Given the description of an element on the screen output the (x, y) to click on. 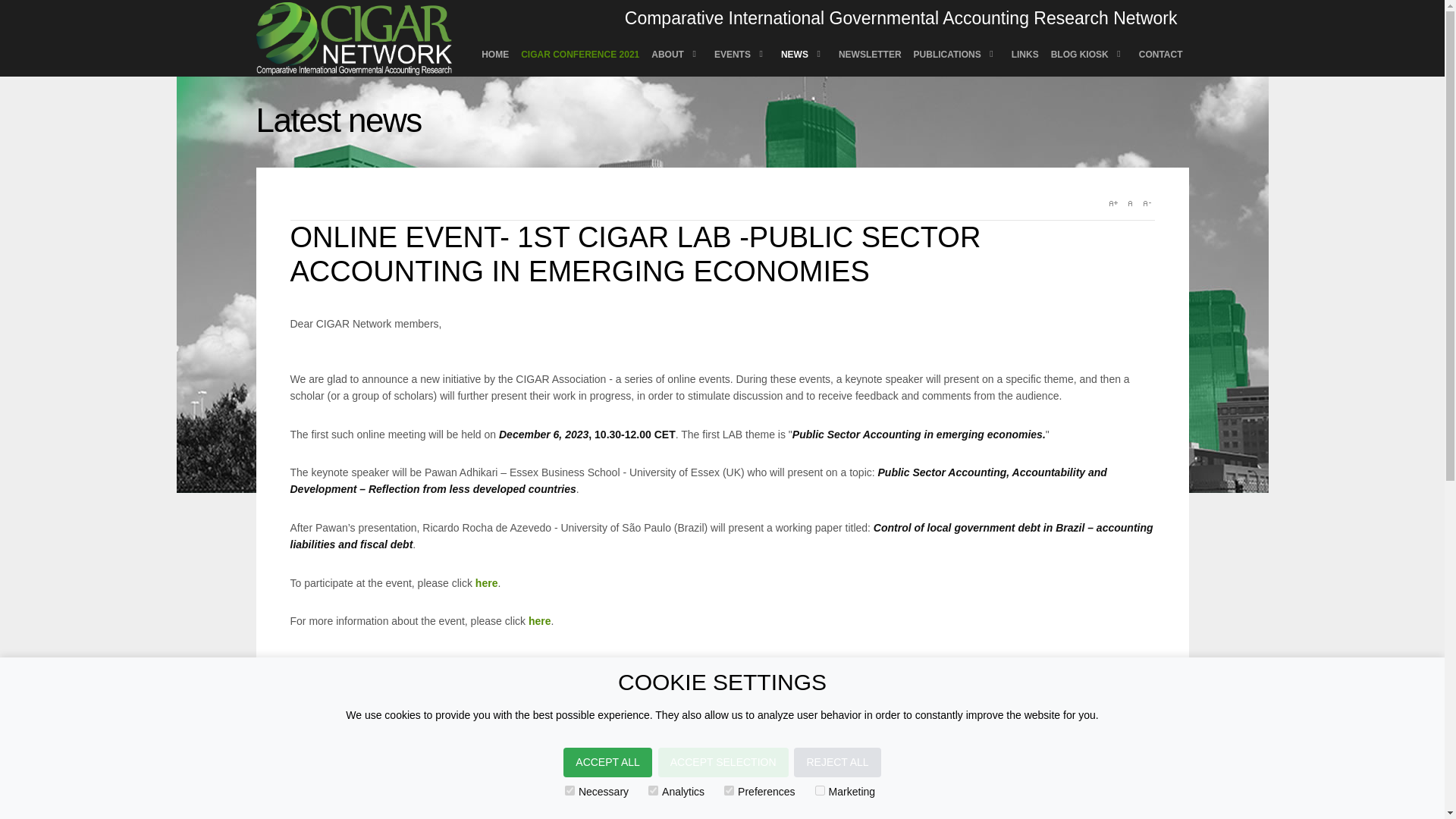
here (539, 621)
LINKS (1025, 54)
EVENTS (740, 54)
CONTACT (1160, 54)
A (1129, 203)
here (486, 582)
Analytics (652, 790)
PUBLICATIONS (956, 54)
NEWS (803, 54)
HOME (495, 54)
